Given the description of an element on the screen output the (x, y) to click on. 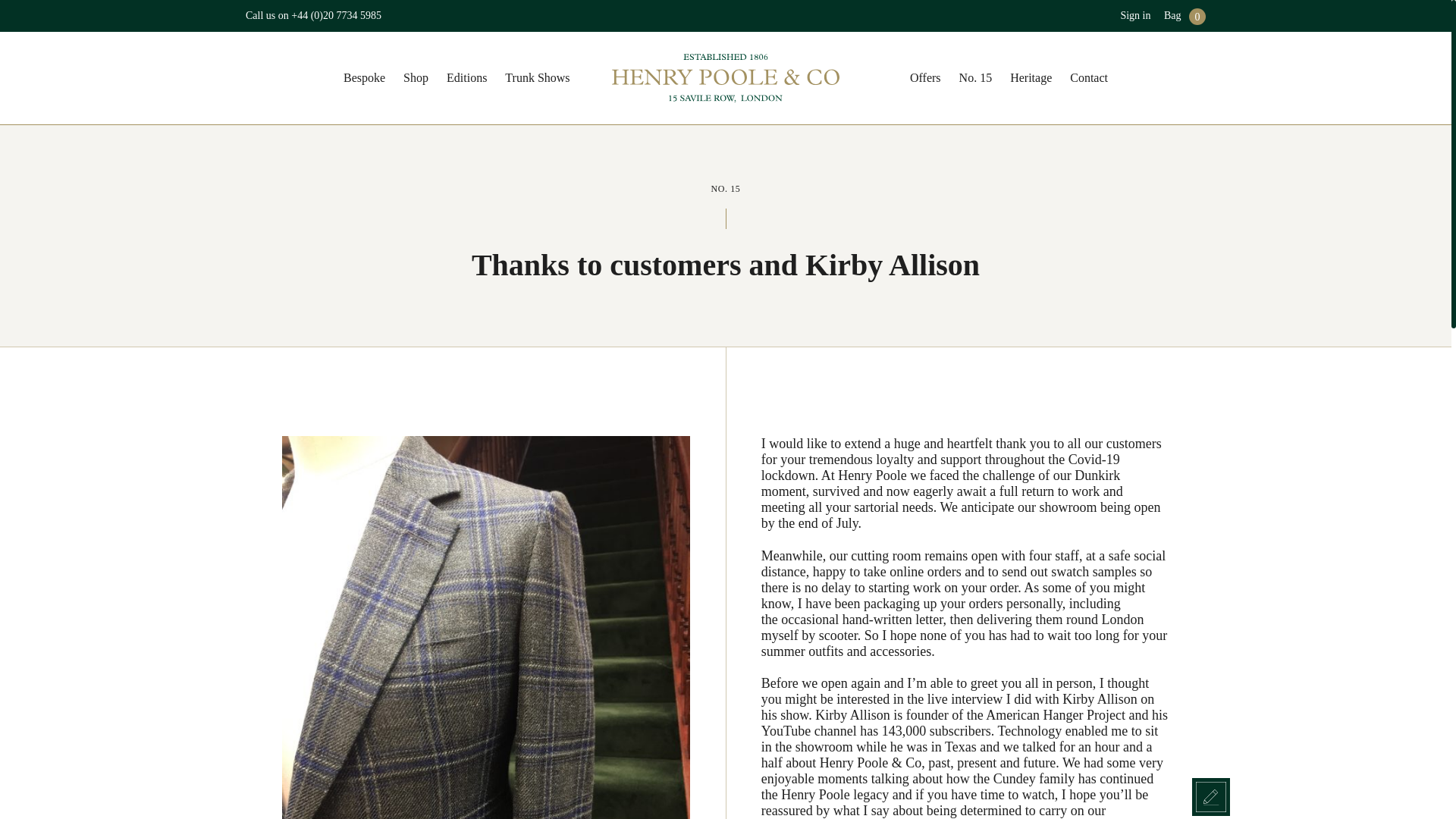
Bespoke (364, 78)
Heritage (1030, 78)
Offers (925, 78)
No. 15 (975, 78)
Bag 0 (1184, 15)
Sign in (1134, 15)
Editions (466, 78)
Trunk Shows (537, 78)
Shop (415, 78)
